Given the description of an element on the screen output the (x, y) to click on. 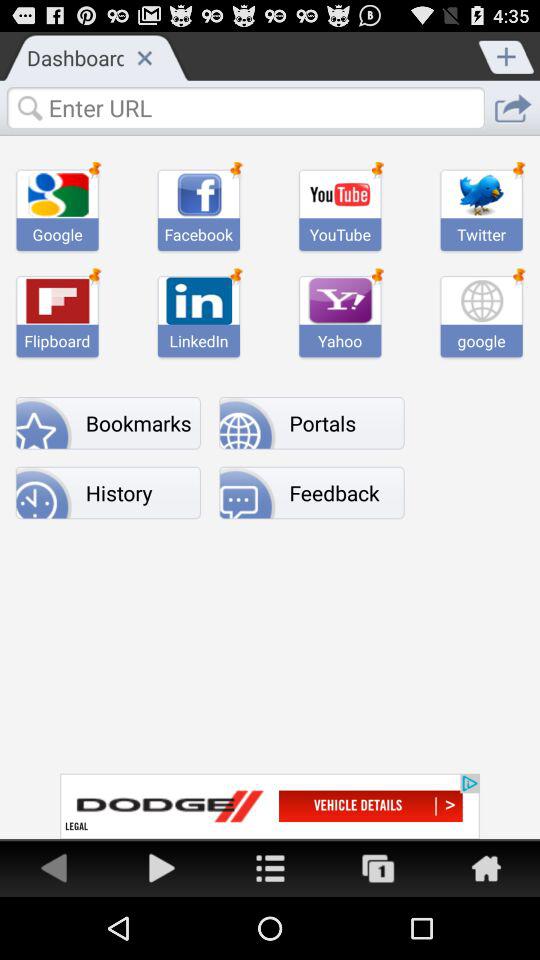
close window (144, 57)
